Given the description of an element on the screen output the (x, y) to click on. 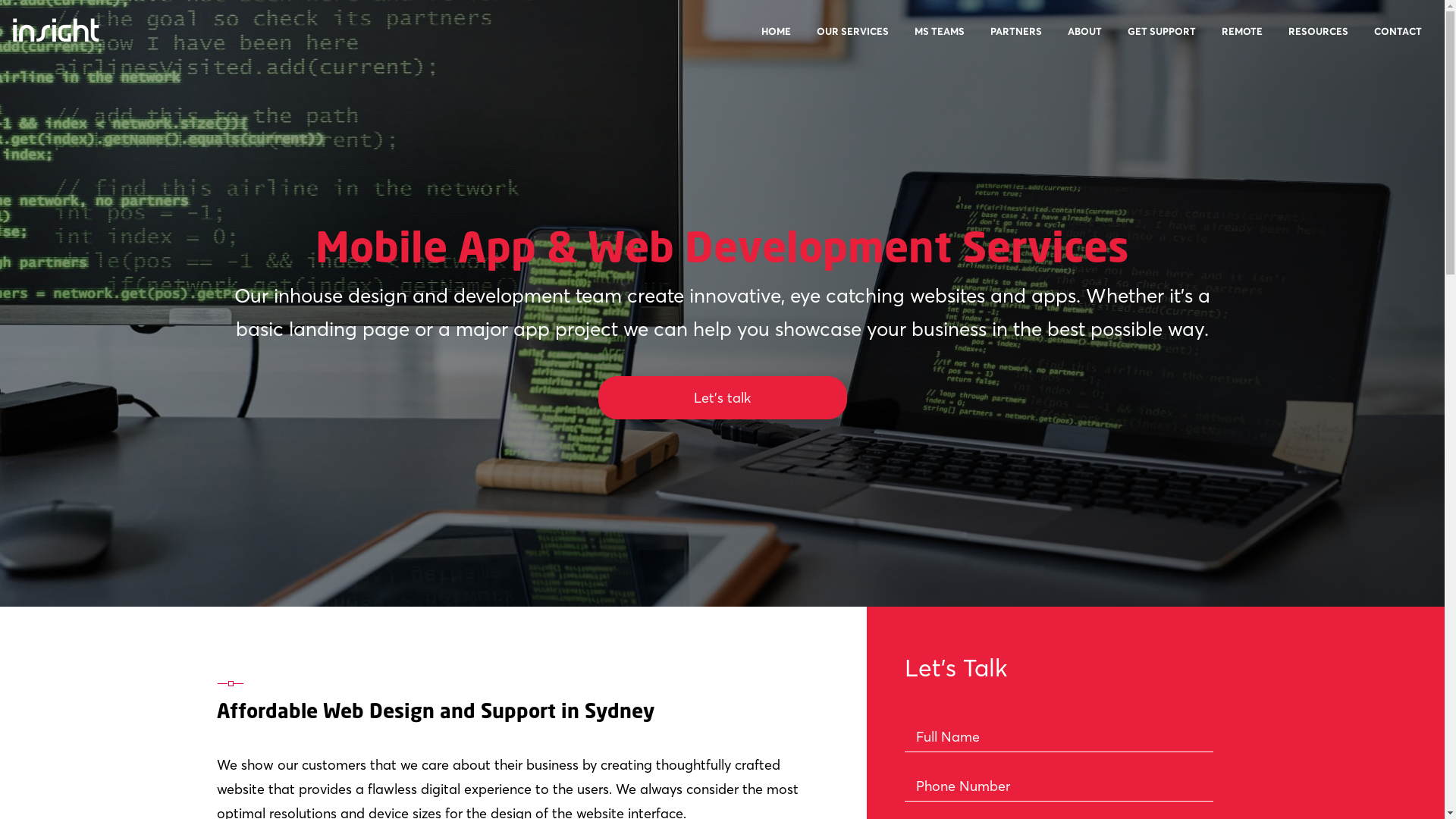
OUR SERVICES Element type: text (852, 40)
REMOTE Element type: text (1242, 40)
Let's talk Element type: text (721, 397)
HOME Element type: text (775, 40)
ABOUT Element type: text (1084, 40)
RESOURCES Element type: text (1318, 40)
GET SUPPORT Element type: text (1161, 40)
PARTNERS Element type: text (1016, 40)
CONTACT Element type: text (1397, 40)
MS TEAMS Element type: text (939, 40)
